Given the description of an element on the screen output the (x, y) to click on. 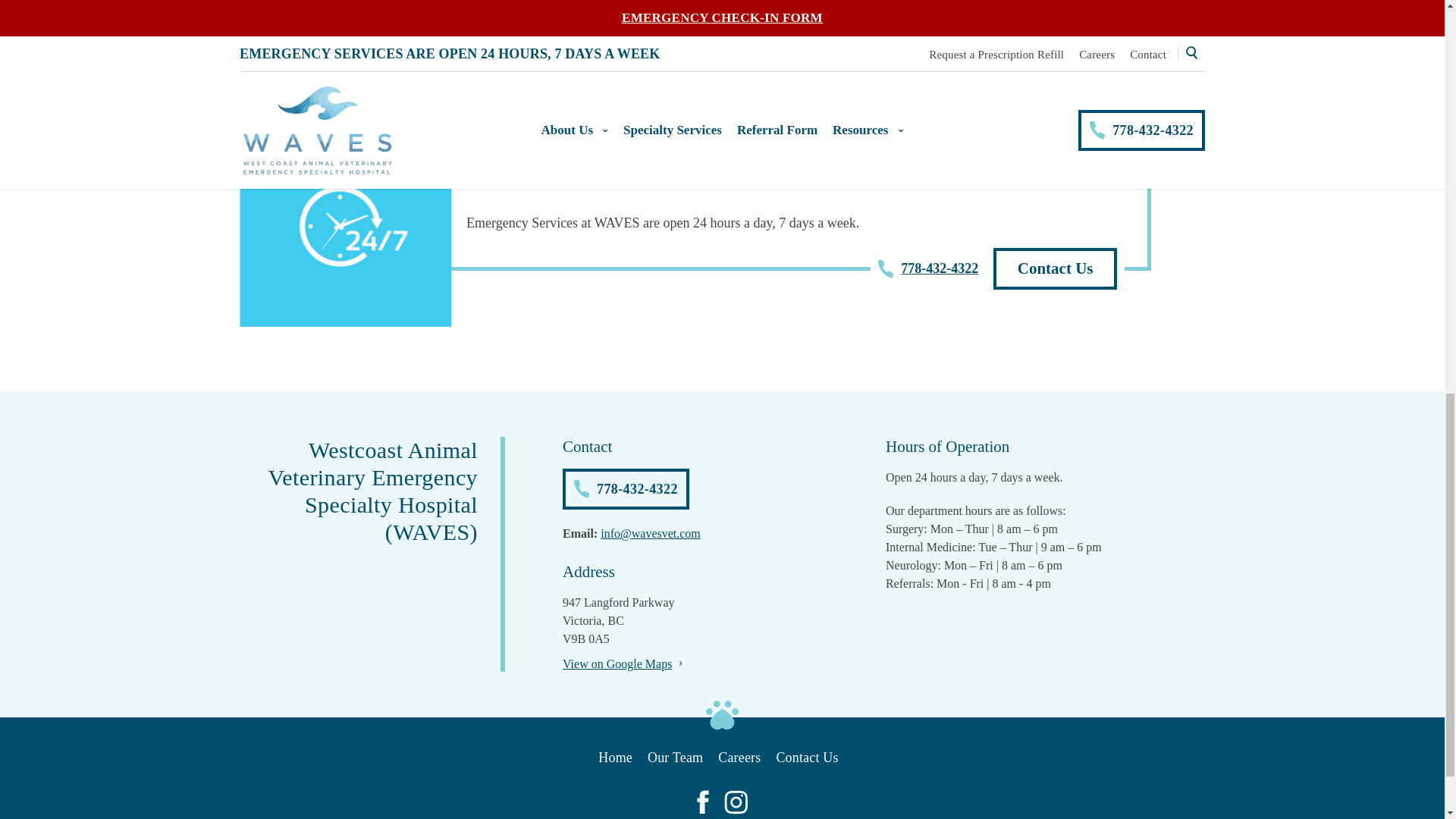
Contact Us (1054, 268)
778-432-4322 (927, 269)
